Given the description of an element on the screen output the (x, y) to click on. 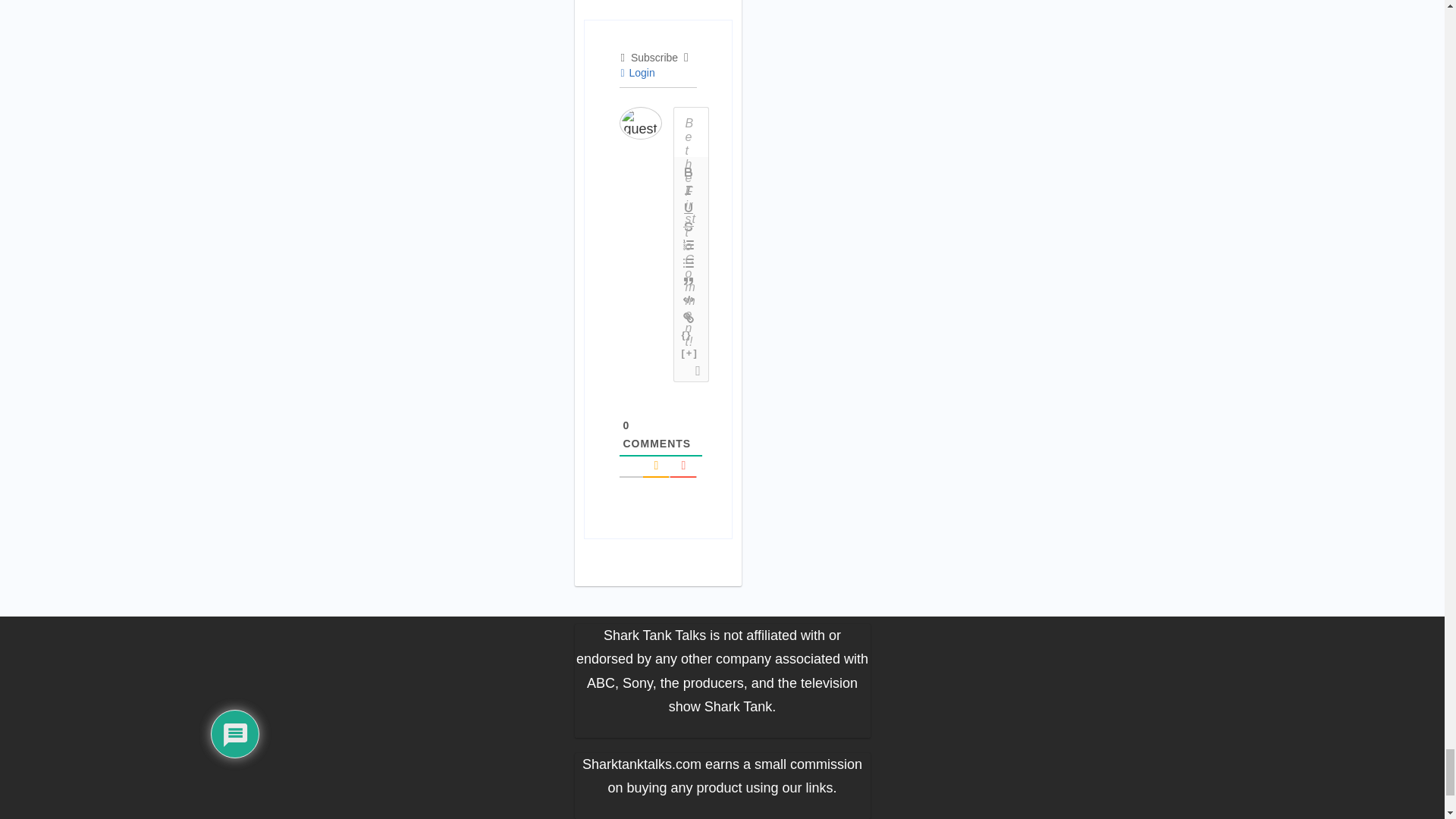
Ordered List (688, 244)
Bold (688, 171)
Code Block (688, 299)
Spoiler (689, 353)
Unordered List (688, 262)
Underline (688, 208)
Italic (688, 189)
Link (688, 317)
Blockquote (688, 280)
Source Code (686, 335)
Strike (688, 226)
